Given the description of an element on the screen output the (x, y) to click on. 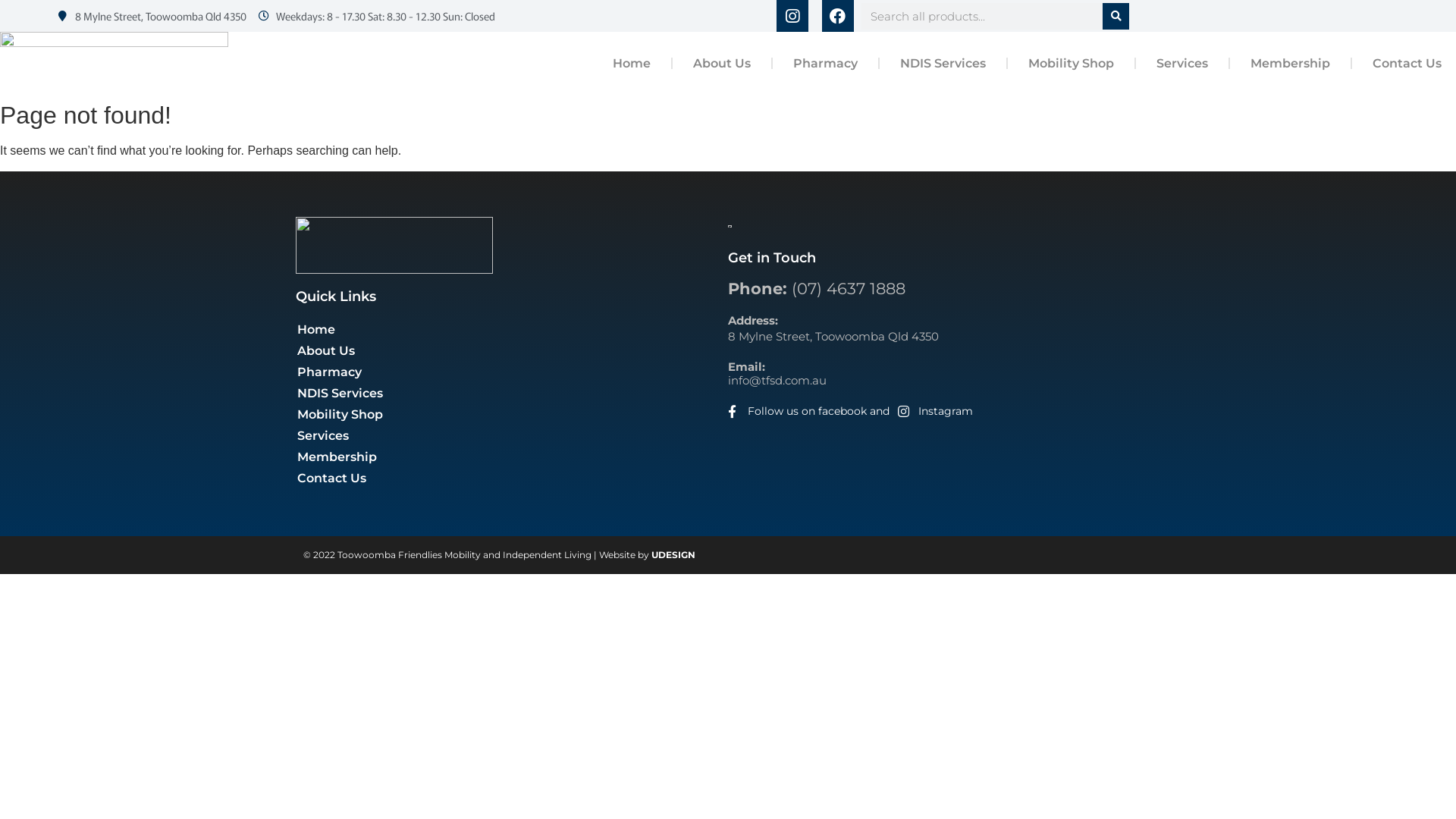
Membership Element type: text (511, 456)
Mobility Shop Element type: text (511, 414)
Contact Us Element type: text (511, 478)
Home Element type: text (511, 329)
Home Element type: text (631, 63)
About Us Element type: text (511, 350)
Email:
info@tfsd.com.au Element type: text (777, 373)
Phone: (07) 4637 1888 Element type: text (816, 288)
Mobility Shop Element type: text (1070, 63)
NDIS Services Element type: text (511, 393)
Pharmacy Element type: text (825, 63)
NDIS Services Element type: text (942, 63)
Services Element type: text (511, 435)
About Us Element type: text (721, 63)
Address:
8 Mylne Street, Toowoomba Qld 4350 Element type: text (833, 328)
Membership Element type: text (1290, 63)
Pharmacy Element type: text (511, 371)
Services Element type: text (1182, 63)
Follow us on facebook and Element type: text (808, 411)
UDESIGN Element type: text (673, 554)
Instagram Element type: text (934, 411)
